Given the description of an element on the screen output the (x, y) to click on. 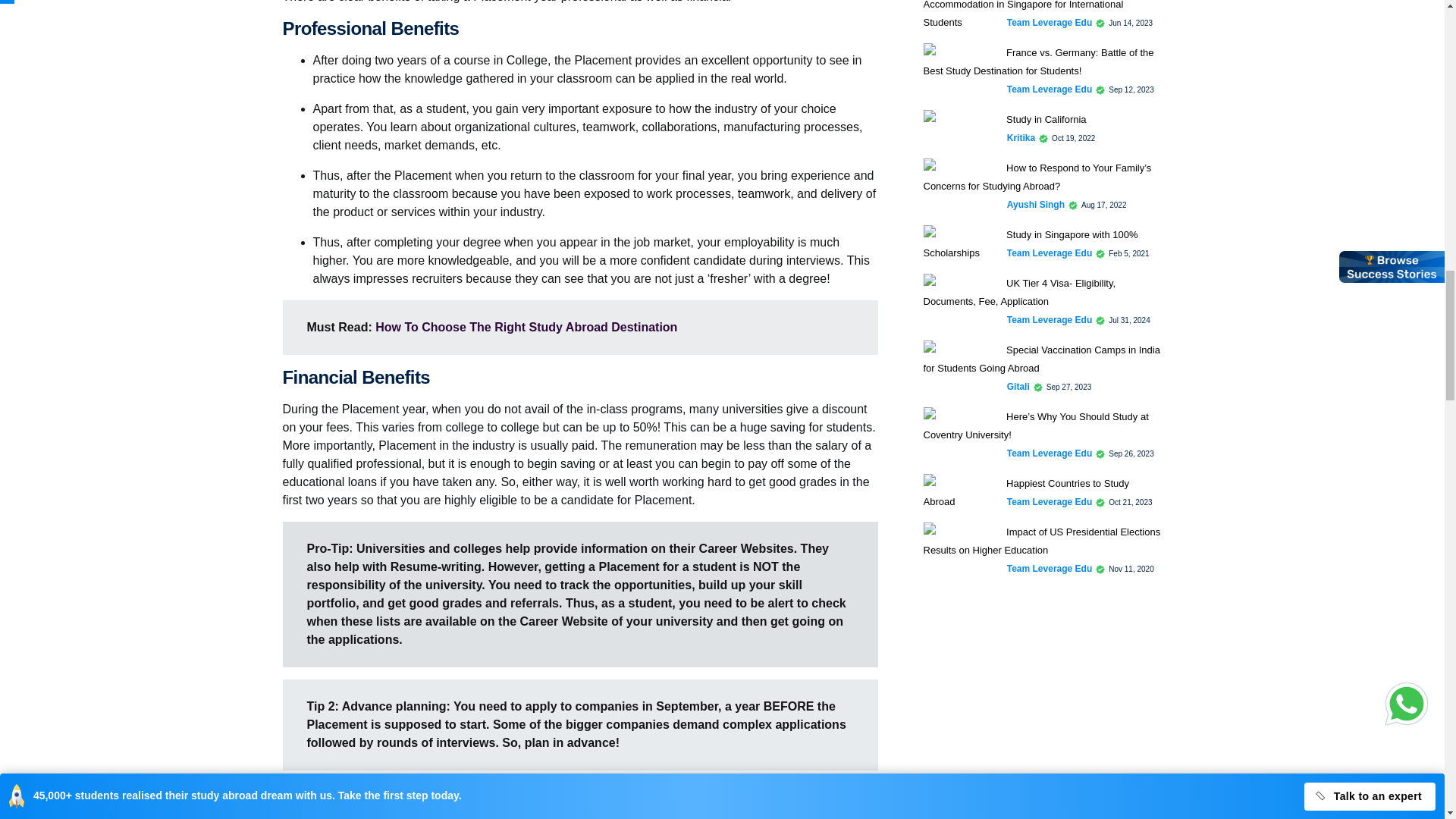
View all posts by Team Leverage Edu (1050, 319)
View all posts by Kritika (1021, 137)
View all posts by Team Leverage Edu (1050, 501)
View all posts by Team Leverage Edu (1050, 253)
View all posts by Team Leverage Edu (1050, 22)
View all posts by Team Leverage Edu (1050, 89)
View all posts by Ayushi Singh (1035, 204)
View all posts by Gitali (1018, 386)
View all posts by Team Leverage Edu (1050, 453)
